Given the description of an element on the screen output the (x, y) to click on. 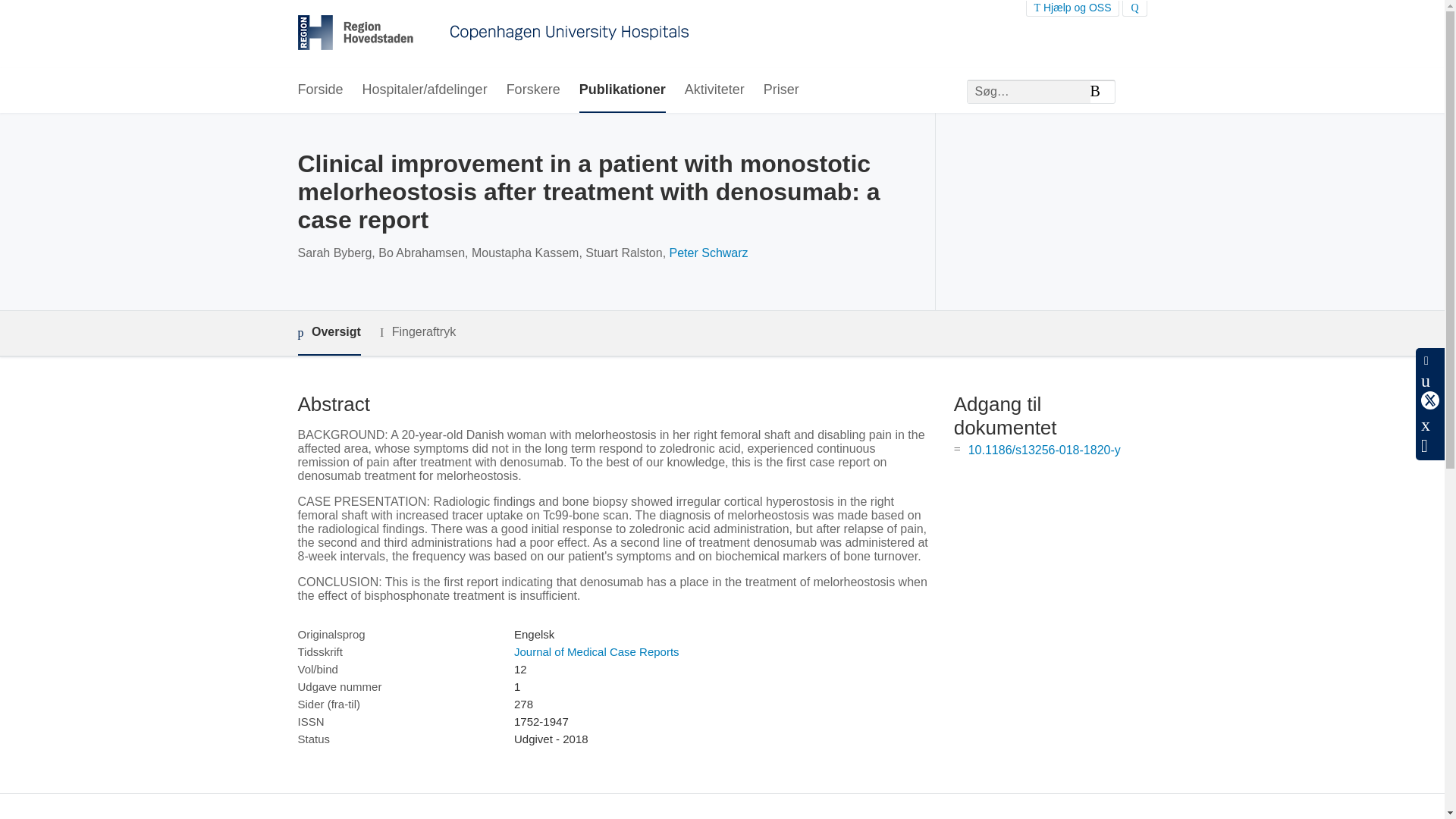
Region Hovedstadens forskningsportal Forside (492, 34)
Fingeraftryk (417, 332)
Forside (319, 90)
Forskere (533, 90)
Publikationer (622, 90)
Peter Schwarz (708, 252)
Journal of Medical Case Reports (596, 651)
Oversigt (328, 333)
Aktiviteter (714, 90)
